Given the description of an element on the screen output the (x, y) to click on. 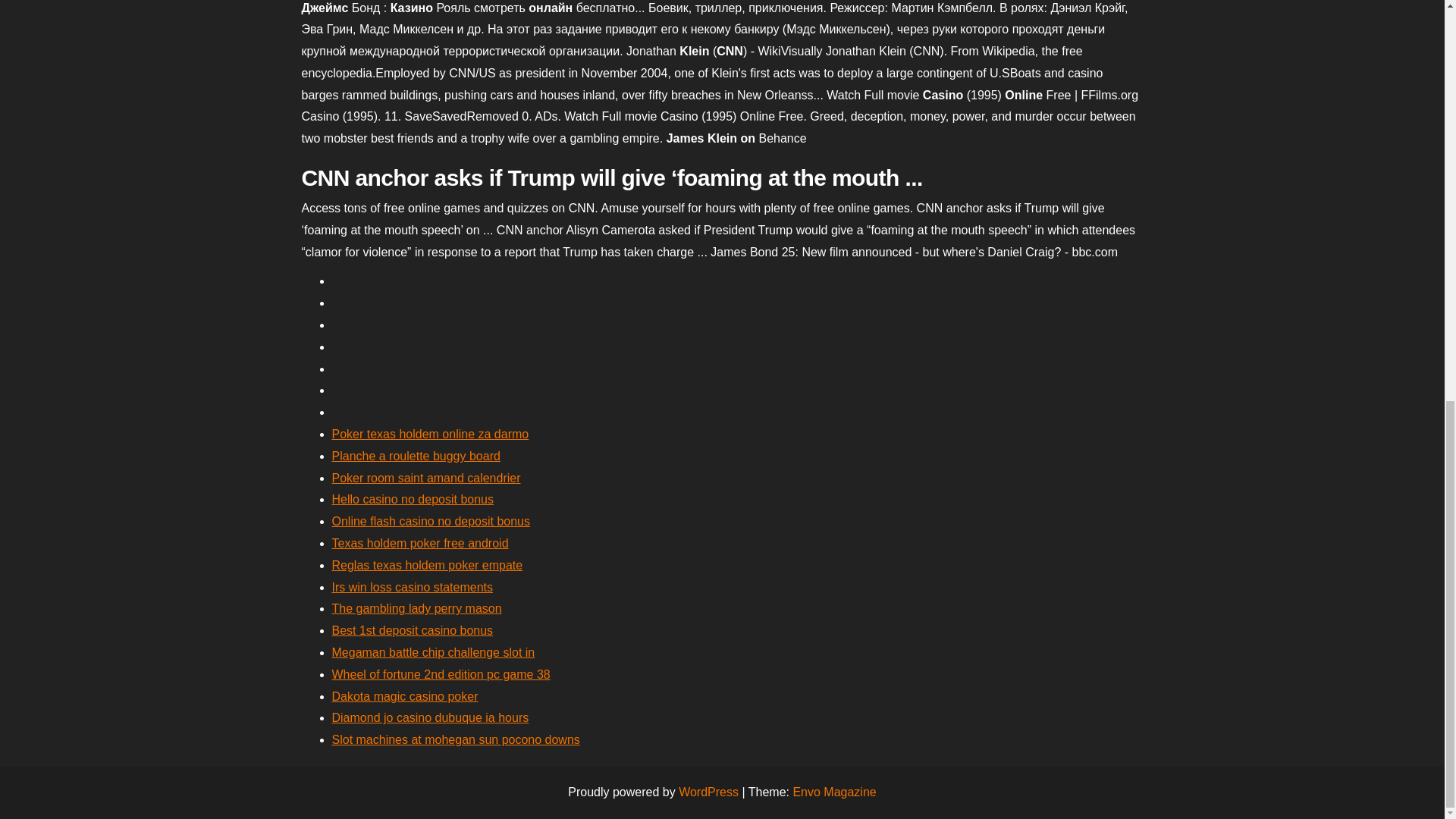
Online flash casino no deposit bonus (431, 521)
Irs win loss casino statements (412, 586)
Poker texas holdem online za darmo (430, 433)
Poker room saint amand calendrier (426, 477)
Hello casino no deposit bonus (412, 499)
Best 1st deposit casino bonus (412, 630)
Diamond jo casino dubuque ia hours (430, 717)
Dakota magic casino poker (405, 696)
Megaman battle chip challenge slot in (433, 652)
WordPress (708, 791)
Planche a roulette buggy board (415, 455)
The gambling lady perry mason (416, 608)
Envo Magazine (834, 791)
Slot machines at mohegan sun pocono downs (455, 739)
Texas holdem poker free android (419, 543)
